Given the description of an element on the screen output the (x, y) to click on. 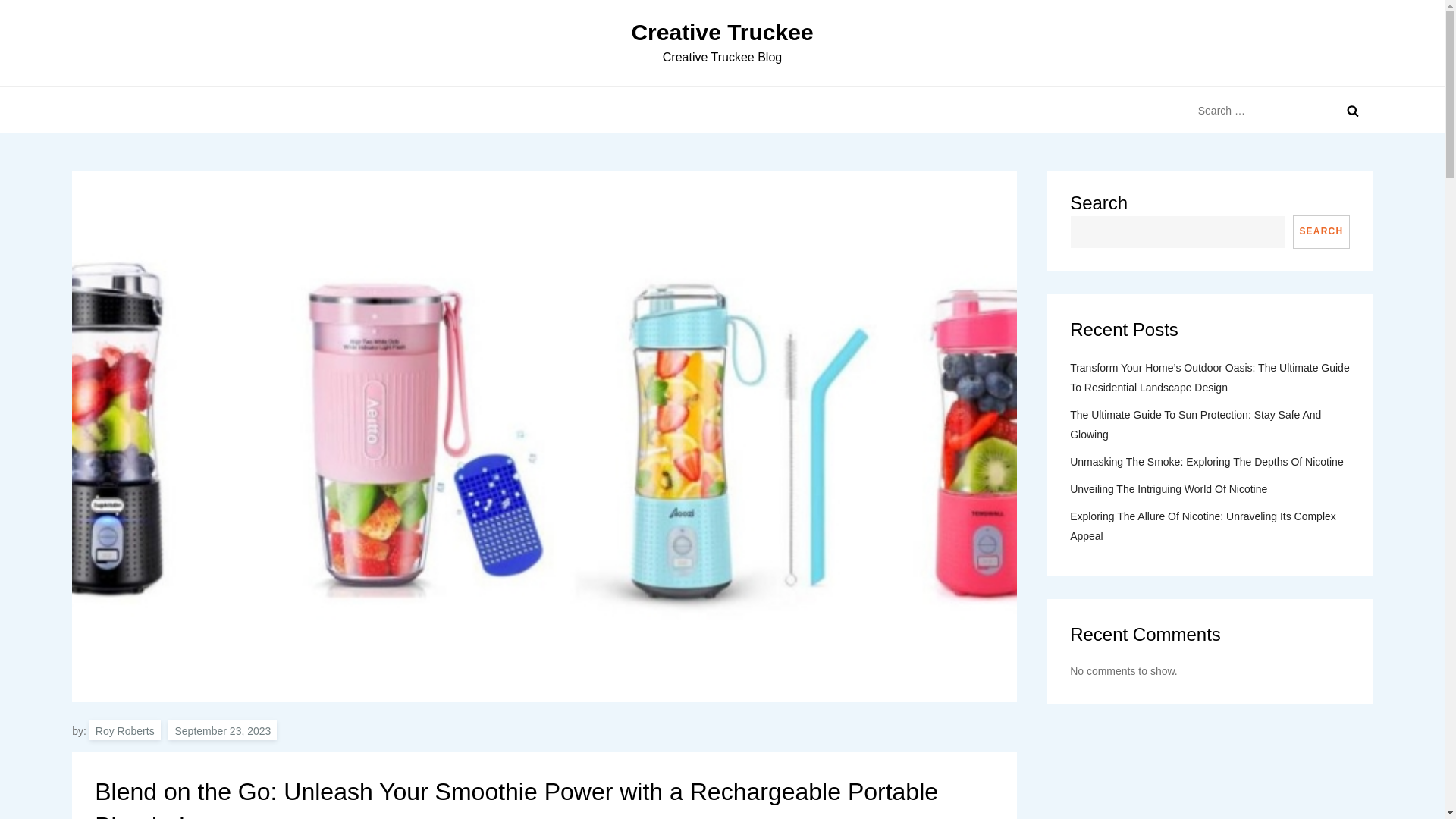
September 23, 2023 (222, 730)
Unmasking The Smoke: Exploring The Depths Of Nicotine (1206, 461)
Unveiling The Intriguing World Of Nicotine (1168, 488)
The Ultimate Guide To Sun Protection: Stay Safe And Glowing (1209, 424)
SEARCH (1320, 231)
Roy Roberts (124, 730)
Creative Truckee (721, 32)
